Given the description of an element on the screen output the (x, y) to click on. 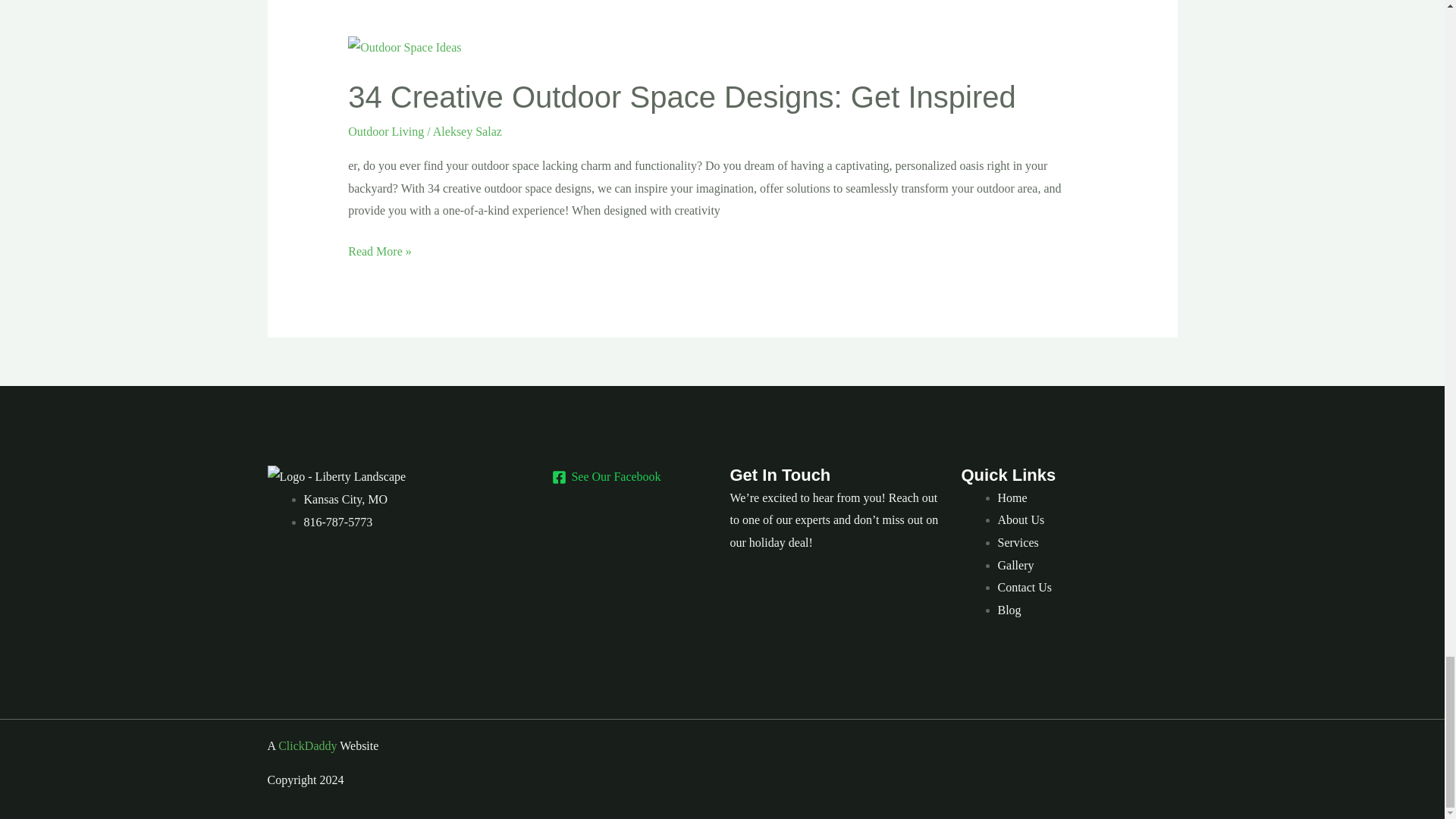
View all posts by Aleksey Salaz (467, 131)
